Given the description of an element on the screen output the (x, y) to click on. 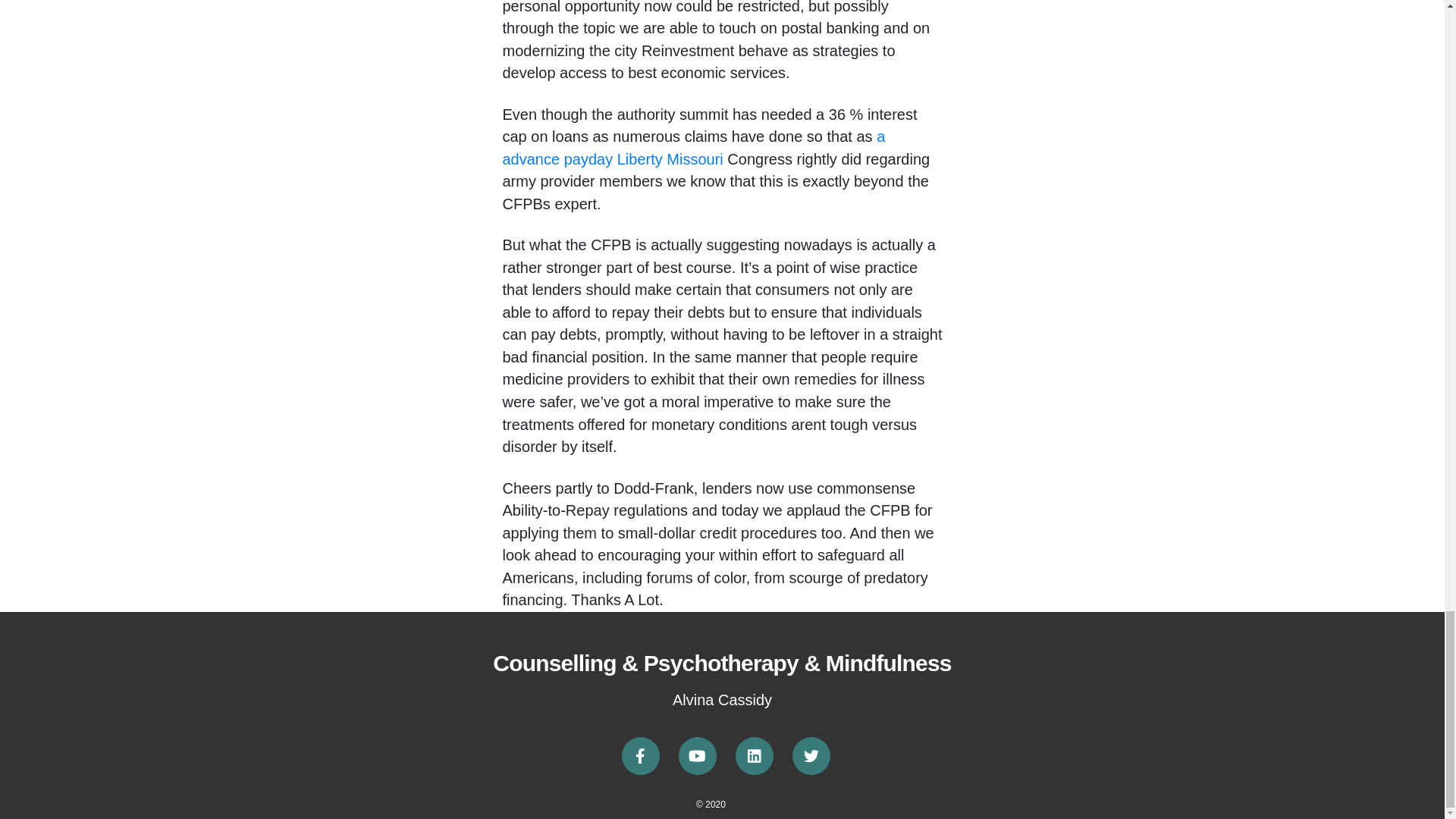
a advance payday Liberty Missouri (693, 147)
